Given the description of an element on the screen output the (x, y) to click on. 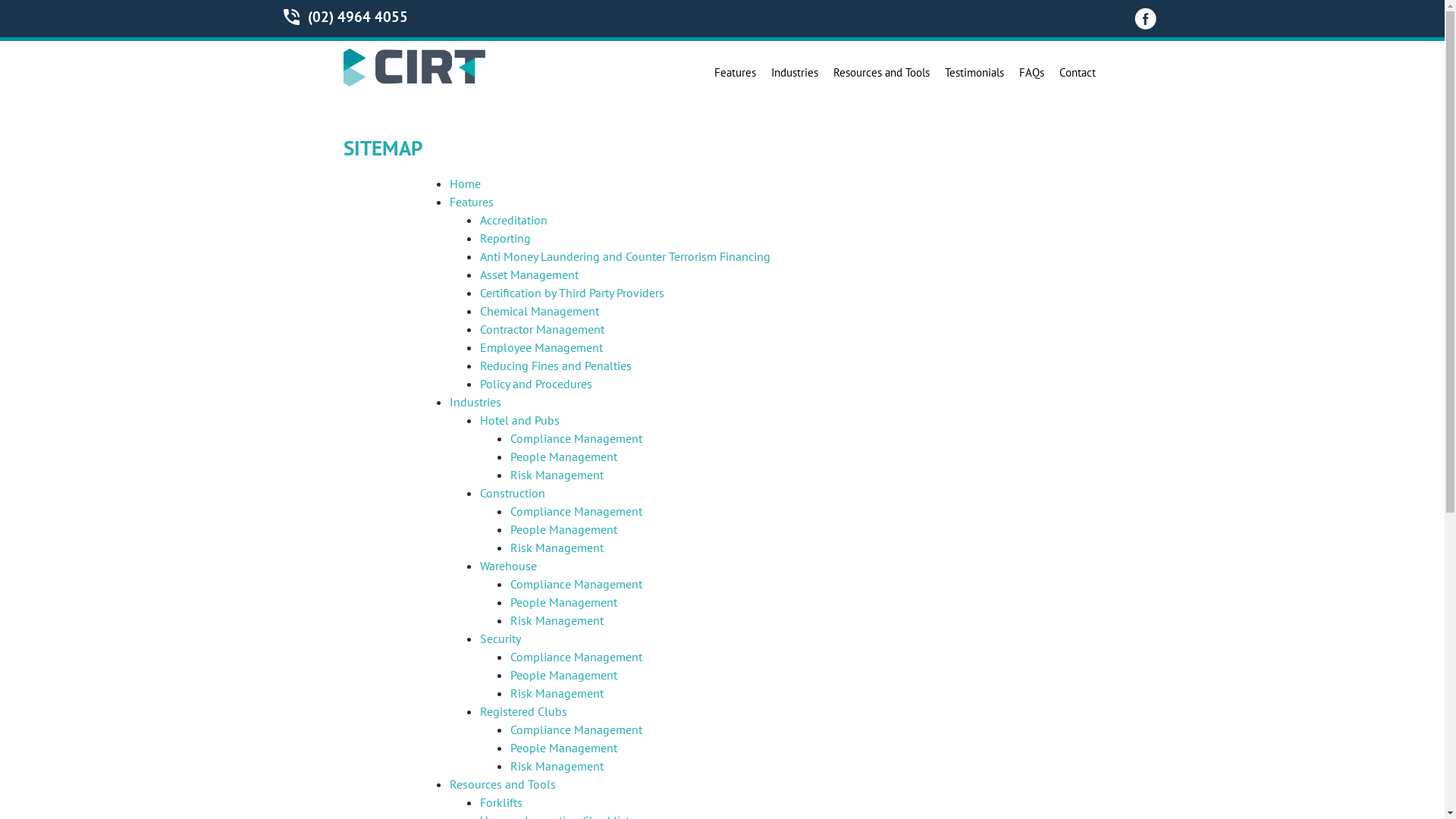
Policy and Procedures Element type: text (535, 383)
Risk Management Element type: text (555, 474)
Construction Element type: text (511, 492)
Reducing Fines and Penalties Element type: text (554, 365)
Employee Management Element type: text (540, 346)
Contact Element type: text (1076, 72)
Home Element type: text (464, 183)
Resources and Tools Element type: text (501, 783)
Risk Management Element type: text (555, 692)
Features Element type: text (735, 72)
Accreditation Element type: text (512, 219)
Security Element type: text (499, 638)
Certification by Third Party Providers Element type: text (571, 292)
Compliance Management Element type: text (575, 437)
People Management Element type: text (562, 674)
Compliance Management Element type: text (575, 510)
People Management Element type: text (562, 528)
Reporting Element type: text (504, 237)
Warehouse Element type: text (507, 565)
Risk Management Element type: text (555, 619)
Registered Clubs Element type: text (522, 710)
Home Element type: hover (418, 81)
Hotel and Pubs Element type: text (518, 419)
(02) 4964 4055 Element type: text (357, 16)
Forklifts Element type: text (500, 801)
Chemical Management Element type: text (538, 310)
Contractor Management Element type: text (541, 328)
Anti Money Laundering and Counter Terrorism Financing Element type: text (624, 255)
Compliance Management Element type: text (575, 729)
Compliance Management Element type: text (575, 656)
Industries Element type: text (793, 72)
Asset Management Element type: text (528, 274)
Testimonials Element type: text (974, 72)
Resources and Tools Element type: text (880, 72)
Risk Management Element type: text (555, 765)
People Management Element type: text (562, 601)
People Management Element type: text (562, 456)
Industries Element type: text (474, 401)
Risk Management Element type: text (555, 547)
Compliance Management Element type: text (575, 583)
Features Element type: text (470, 201)
People Management Element type: text (562, 747)
FAQs Element type: text (1031, 72)
